Given the description of an element on the screen output the (x, y) to click on. 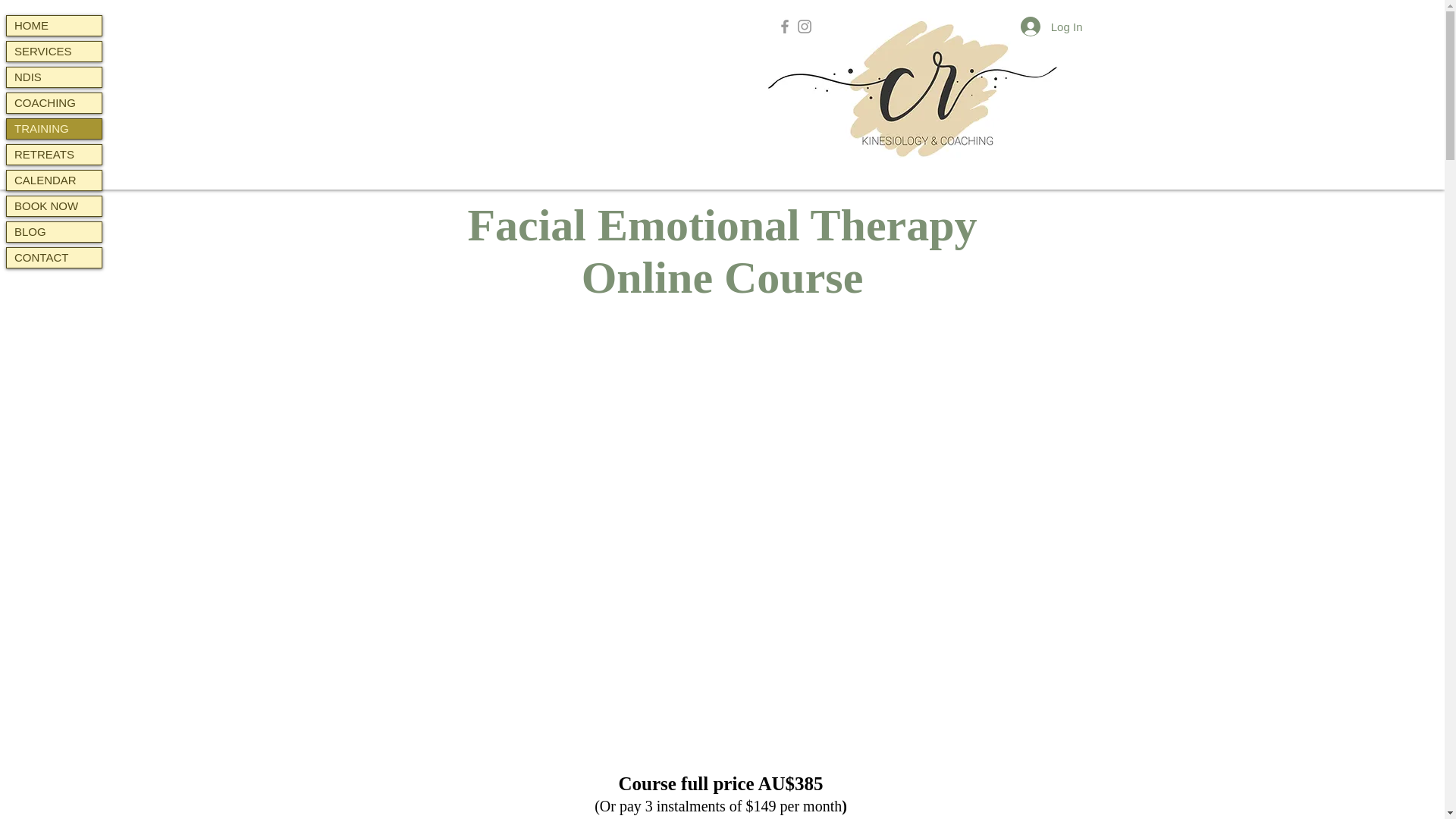
CALENDAR (54, 180)
RETREATS (54, 154)
BLOG (54, 231)
CONTACT (54, 257)
BOOK NOW (54, 206)
SERVICES (54, 51)
HOME (54, 25)
NDIS (54, 76)
Log In (1051, 26)
